Given the description of an element on the screen output the (x, y) to click on. 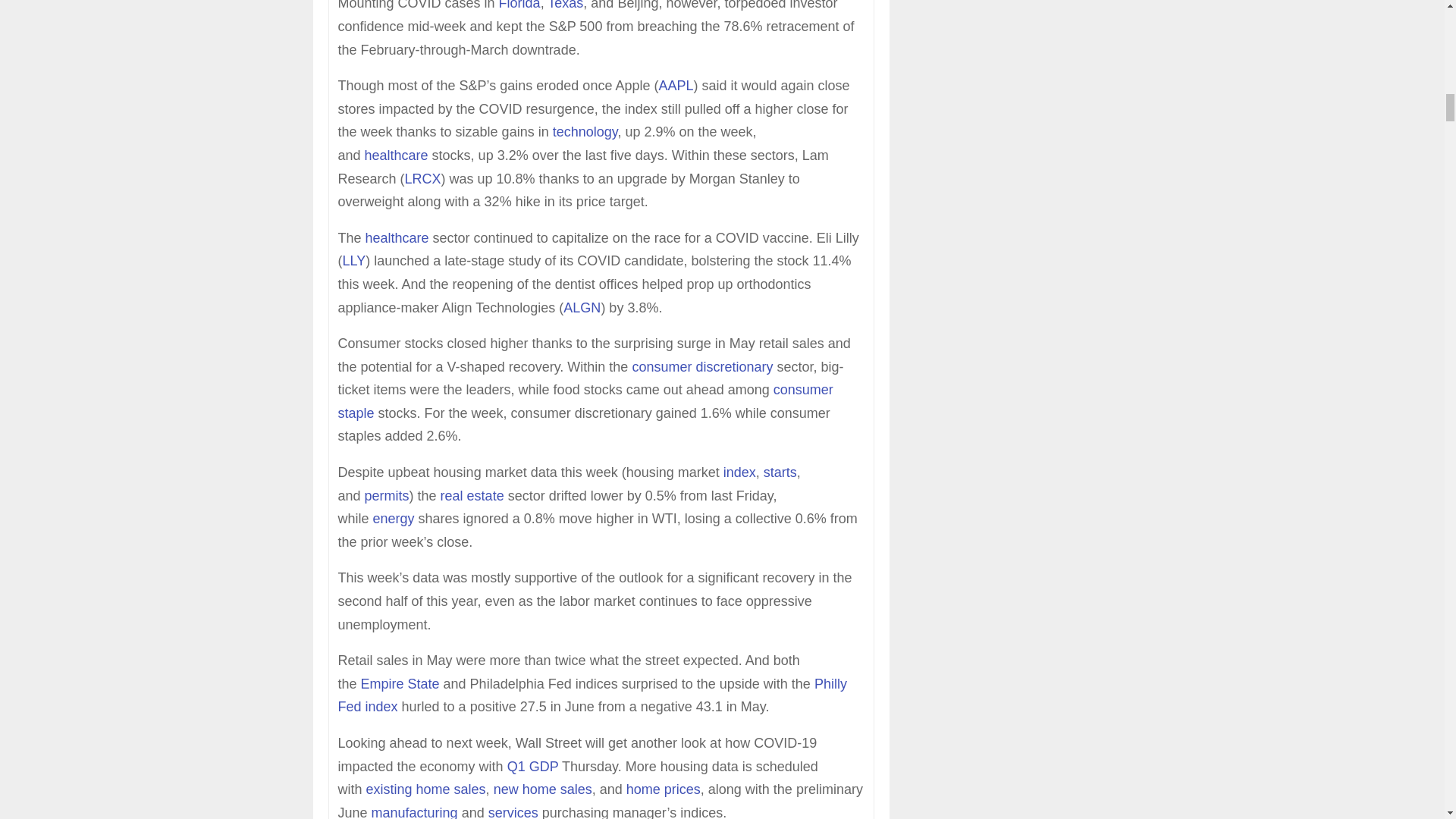
healthcare (396, 155)
LRCX (422, 178)
AAPL (675, 85)
technology (585, 131)
healthcare (397, 237)
LLY (354, 260)
Florida (519, 5)
Texas (565, 5)
